Given the description of an element on the screen output the (x, y) to click on. 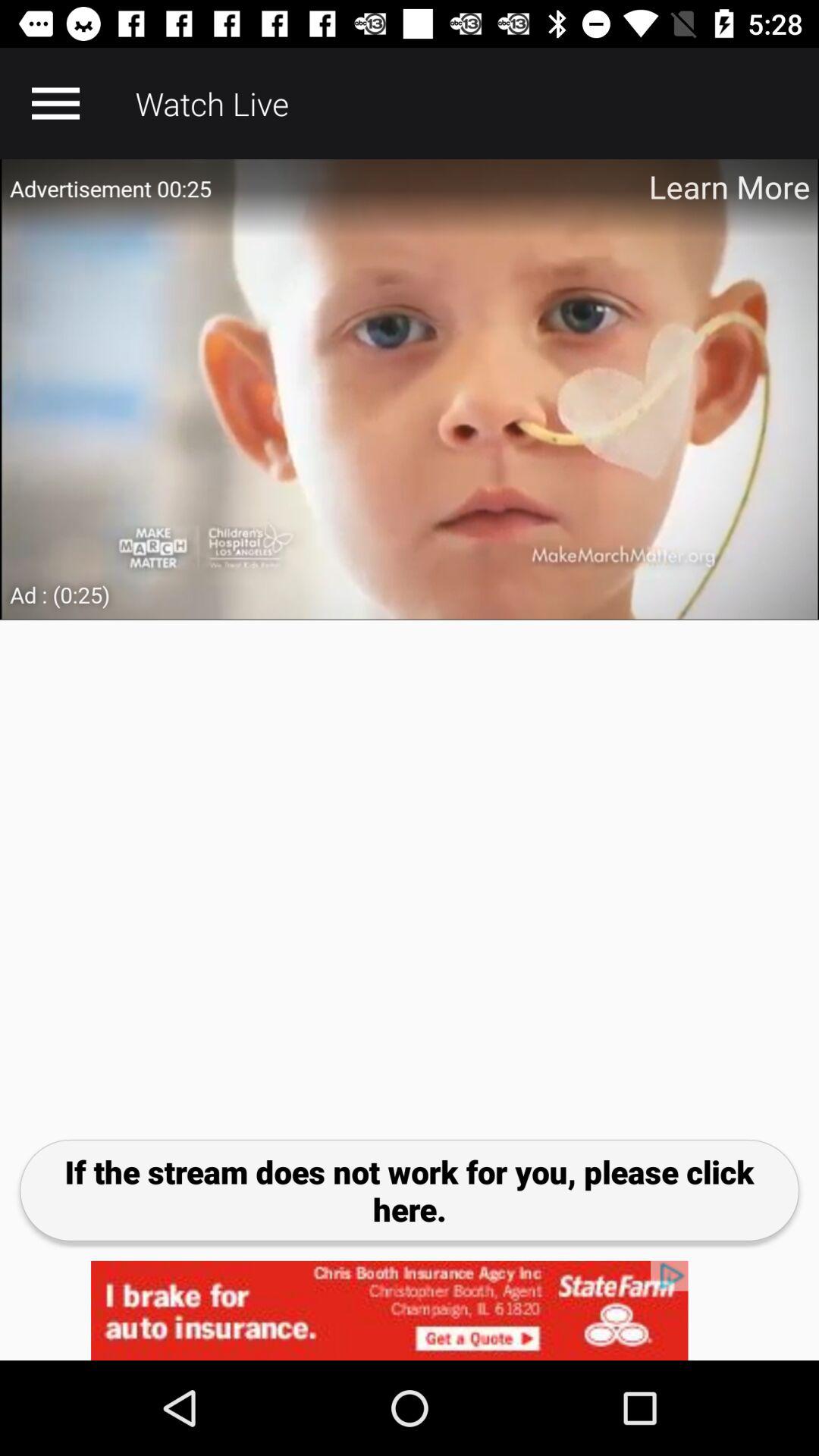
menu (55, 103)
